Given the description of an element on the screen output the (x, y) to click on. 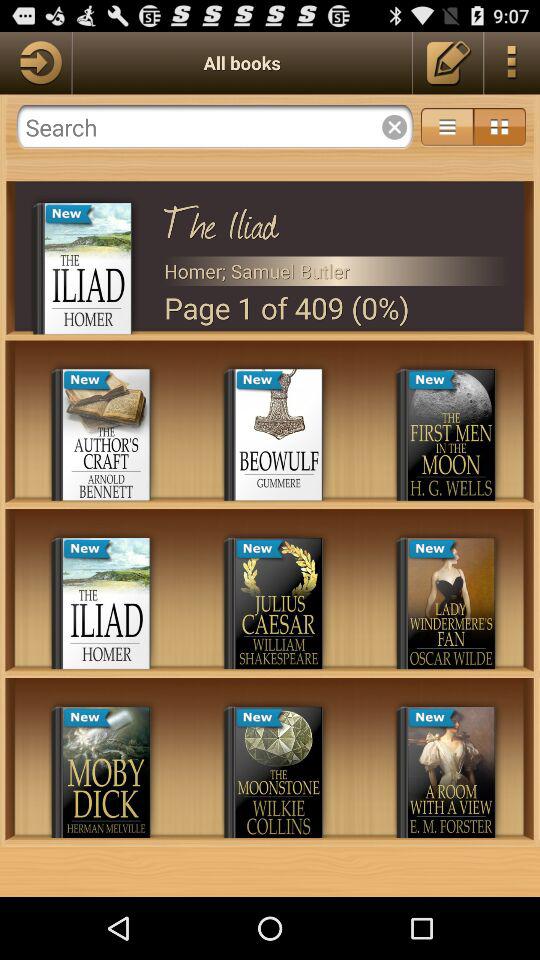
turn off icon above the the iliad (447, 126)
